Given the description of an element on the screen output the (x, y) to click on. 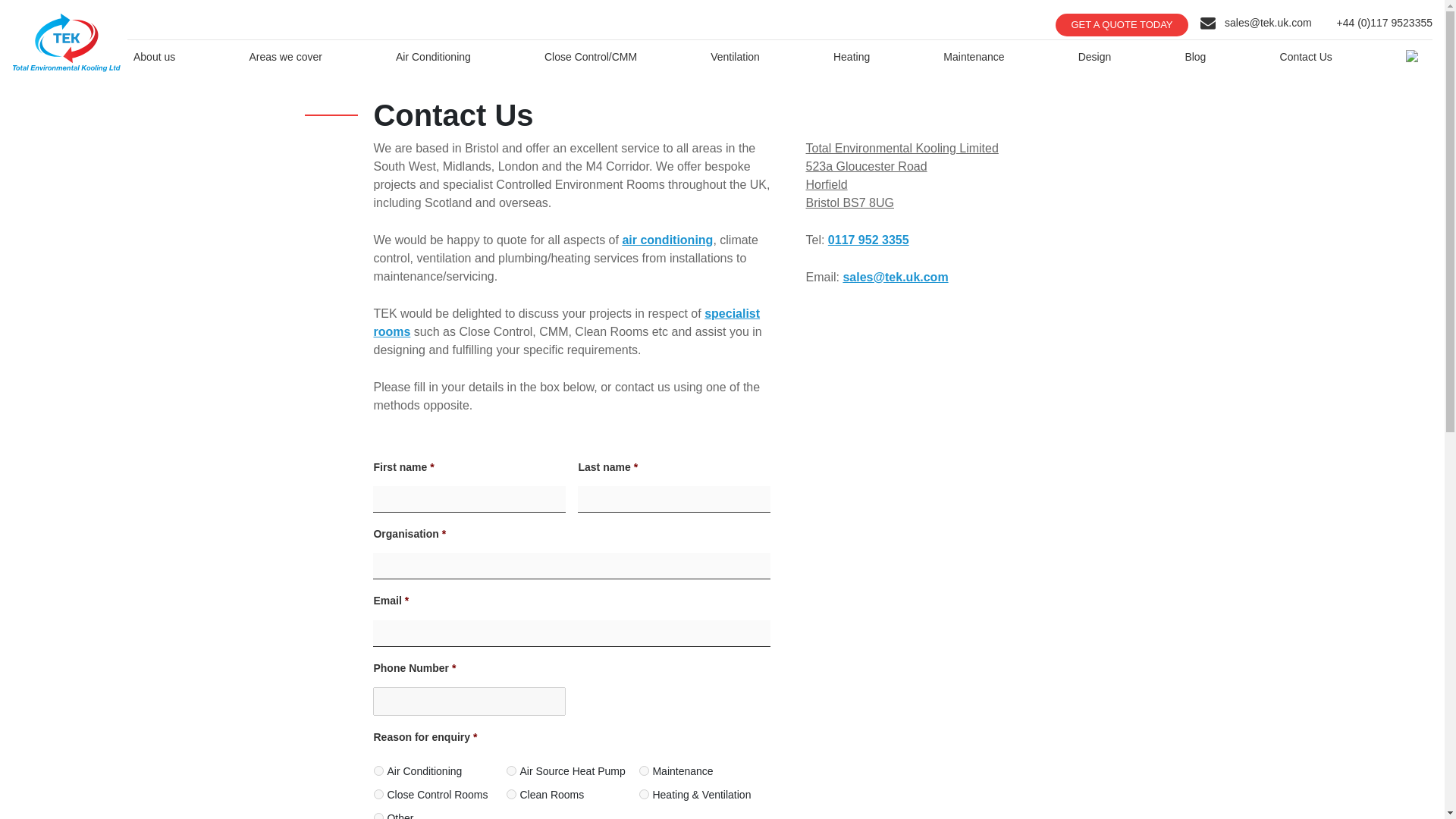
Air Source Heat Pump (511, 770)
Close Control Rooms (379, 794)
Heating (851, 57)
Ventilation (734, 57)
Air Conditioning (379, 770)
Areas we cover (285, 57)
Blog (1194, 57)
Air Conditioning (433, 57)
Design (1094, 57)
GET A QUOTE TODAY (1121, 24)
